Given the description of an element on the screen output the (x, y) to click on. 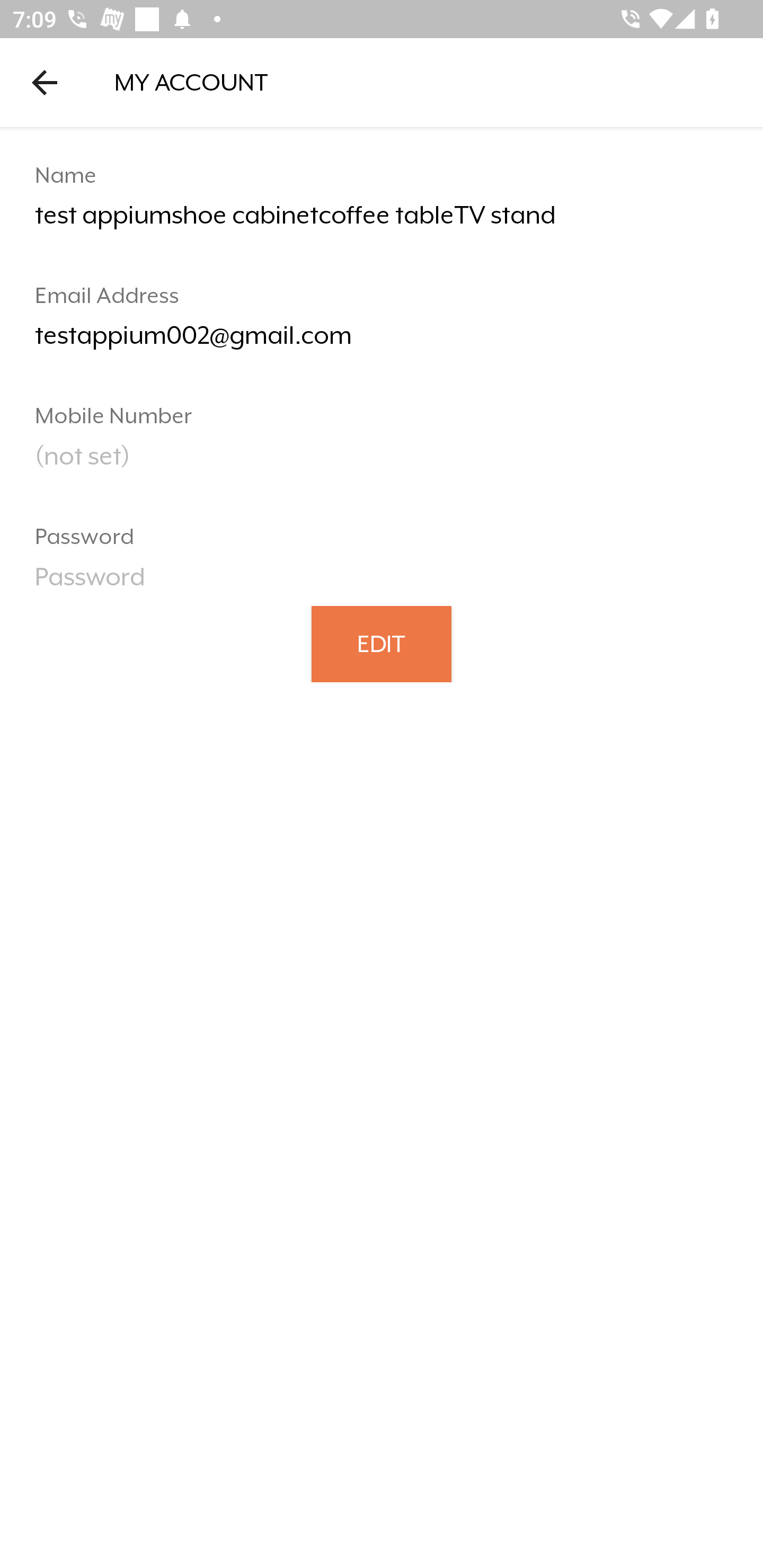
Navigate up (44, 82)
test appiumshoe cabinetcoffee tableTV stand (381, 222)
testappium002@gmail.com (381, 342)
Password (381, 583)
EDIT (381, 643)
